Given the description of an element on the screen output the (x, y) to click on. 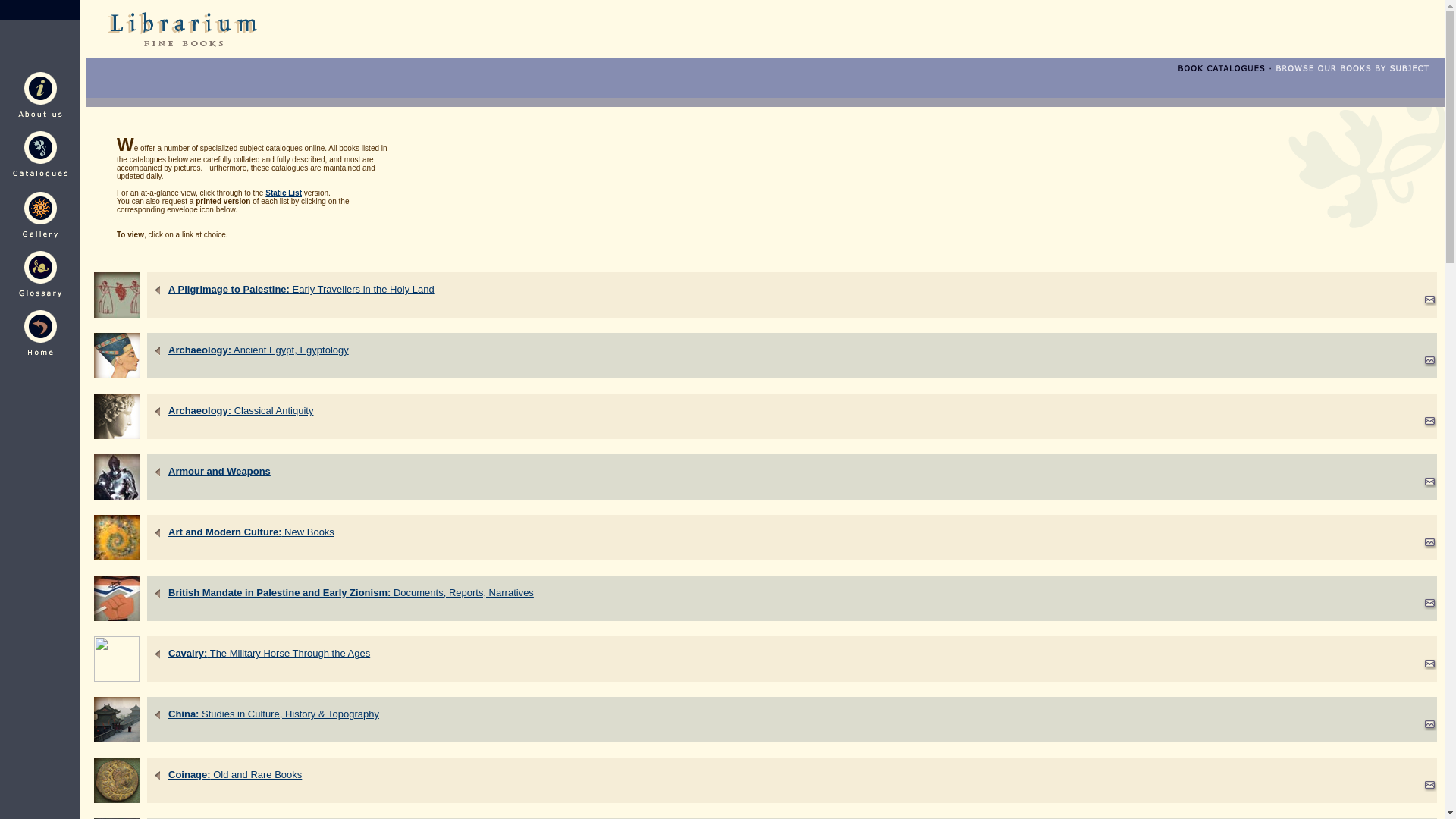
Static List (282, 193)
Armour and Weapons (219, 471)
Archaeology: Classical Antiquity (240, 410)
Art and Modern Culture: New Books (251, 531)
Cavalry: The Military Horse Through the Ages (268, 653)
Coinage: Old and Rare Books (234, 774)
Archaeology: Ancient Egypt, Egyptology (258, 349)
A Pilgrimage to Palestine: Early Travellers in the Holy Land (300, 288)
